Given the description of an element on the screen output the (x, y) to click on. 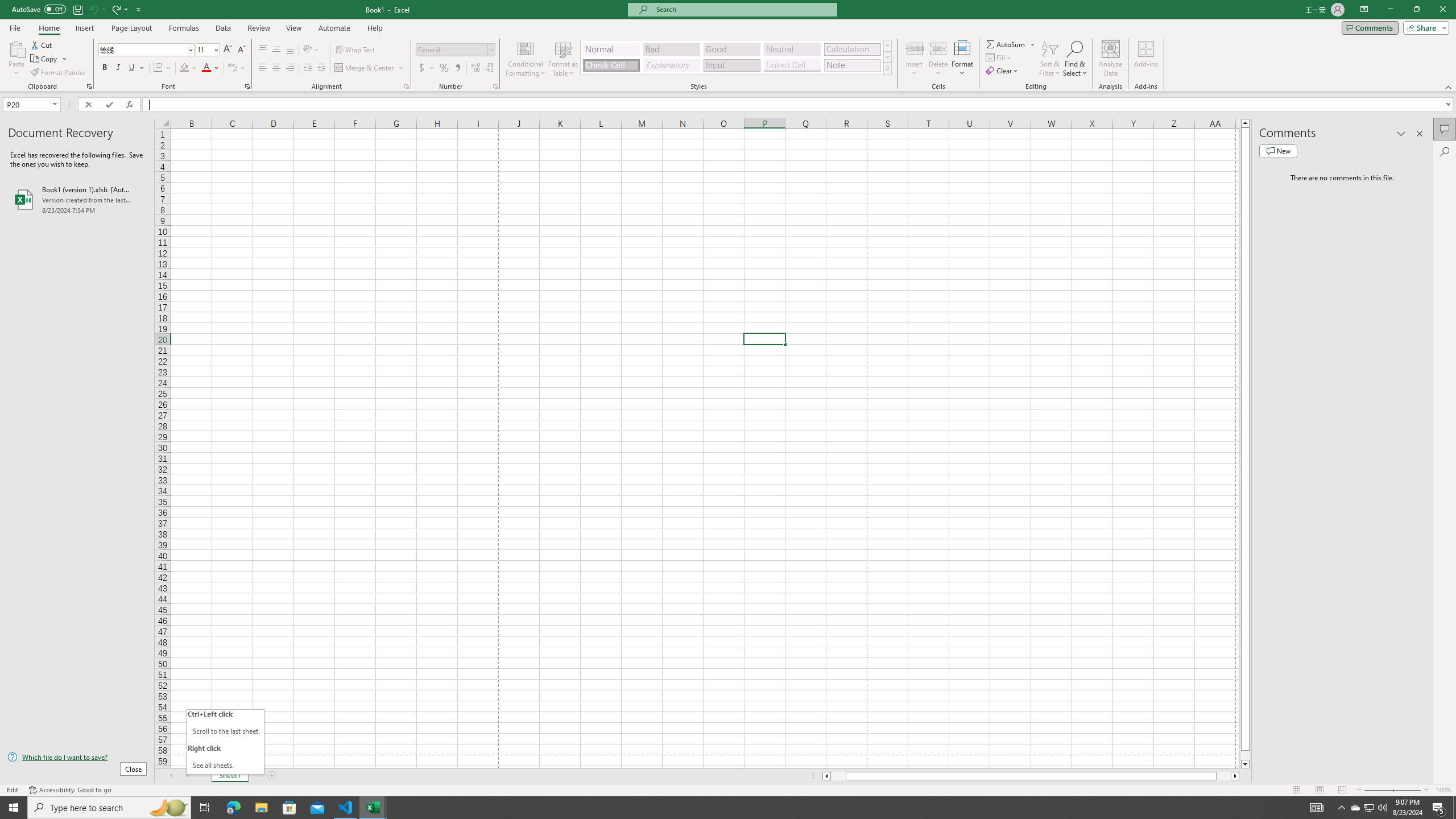
Format as Table (563, 58)
Center (276, 67)
Show Phonetic Field (236, 67)
Bold (104, 67)
Borders (162, 67)
